Given the description of an element on the screen output the (x, y) to click on. 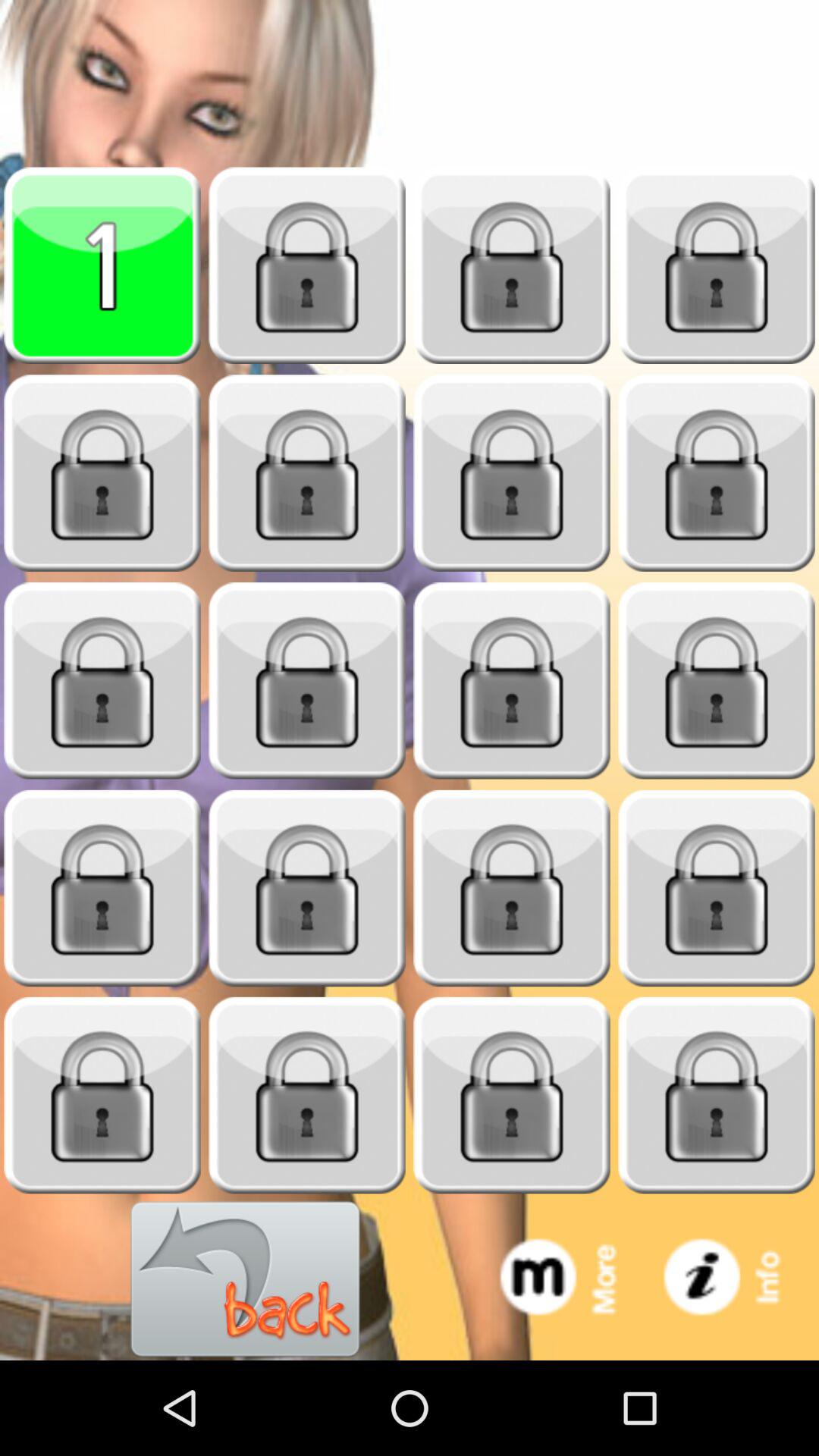
show unlock requirements (716, 680)
